Given the description of an element on the screen output the (x, y) to click on. 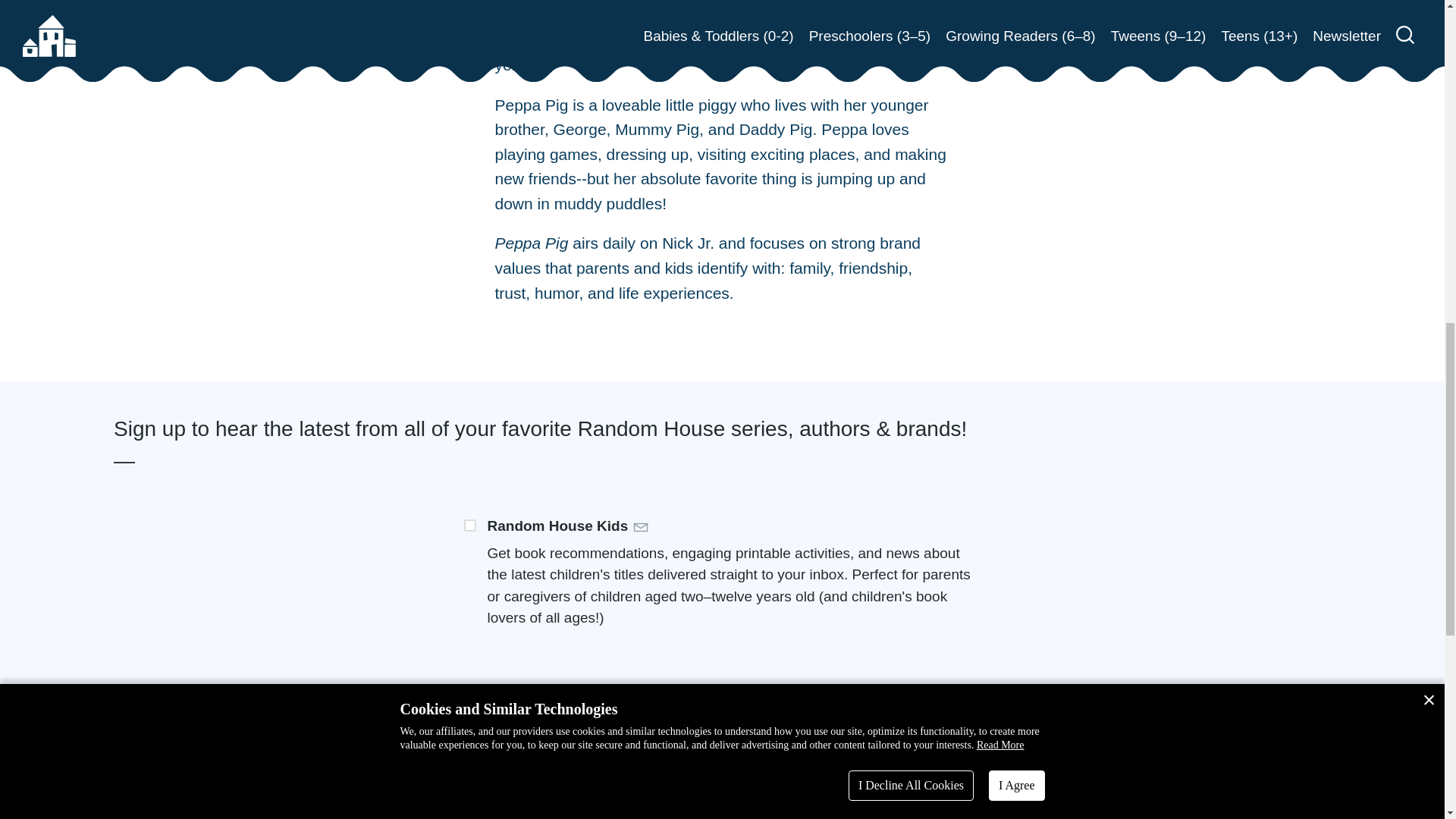
31001 (470, 525)
